Given the description of an element on the screen output the (x, y) to click on. 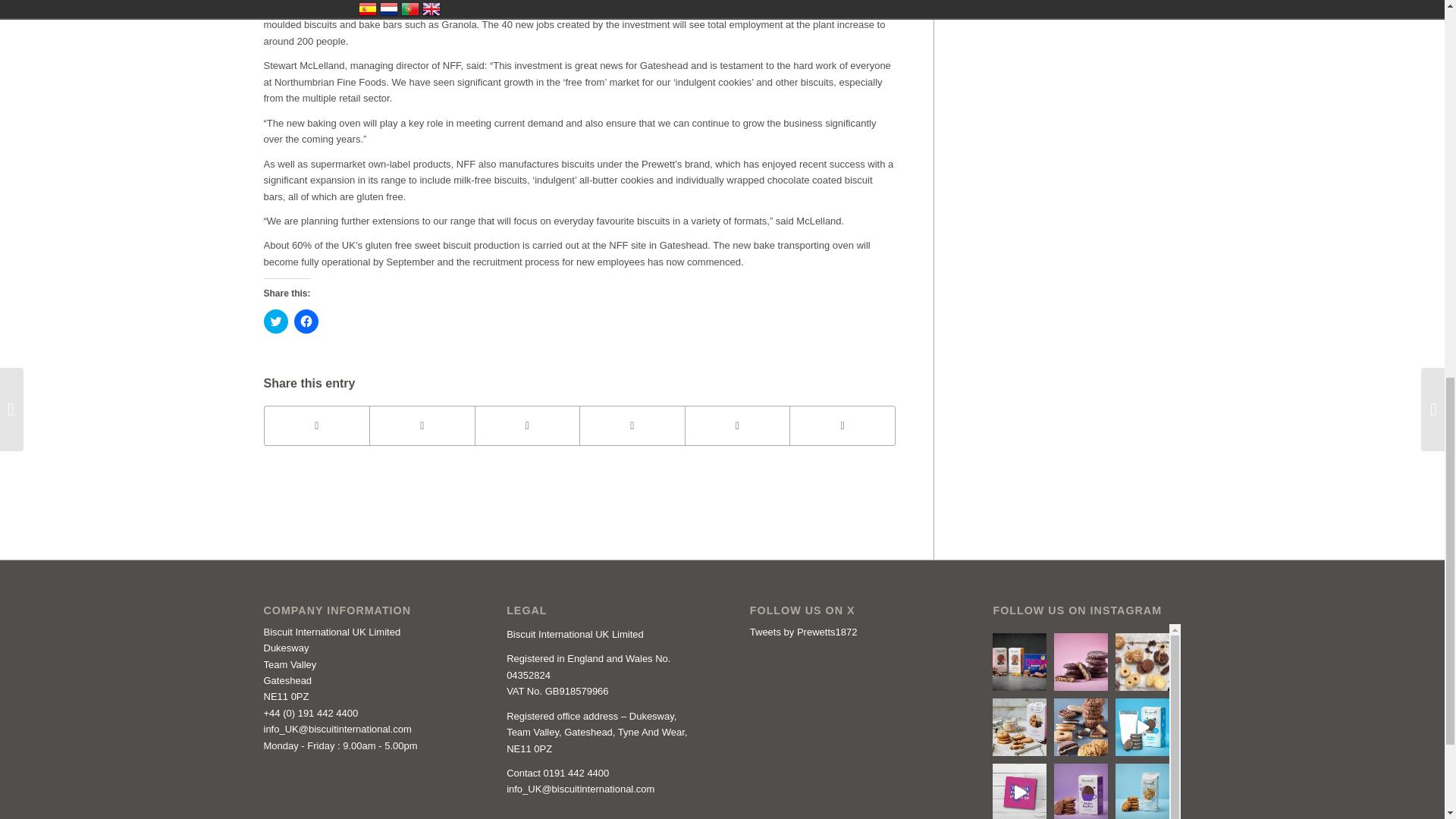
Click to share on Twitter (275, 321)
Click to share on Facebook (306, 321)
